Given the description of an element on the screen output the (x, y) to click on. 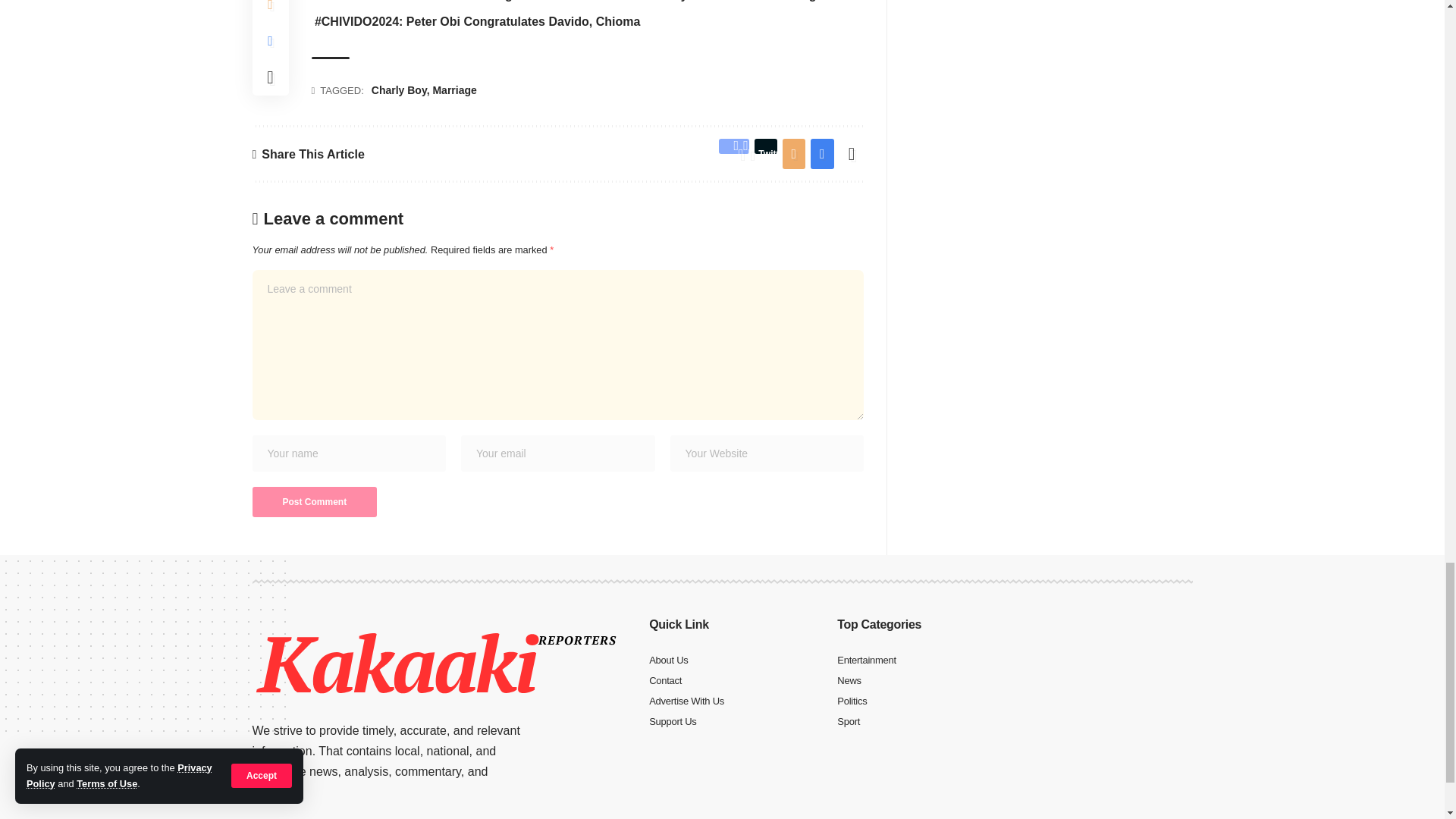
Post Comment (314, 501)
